Given the description of an element on the screen output the (x, y) to click on. 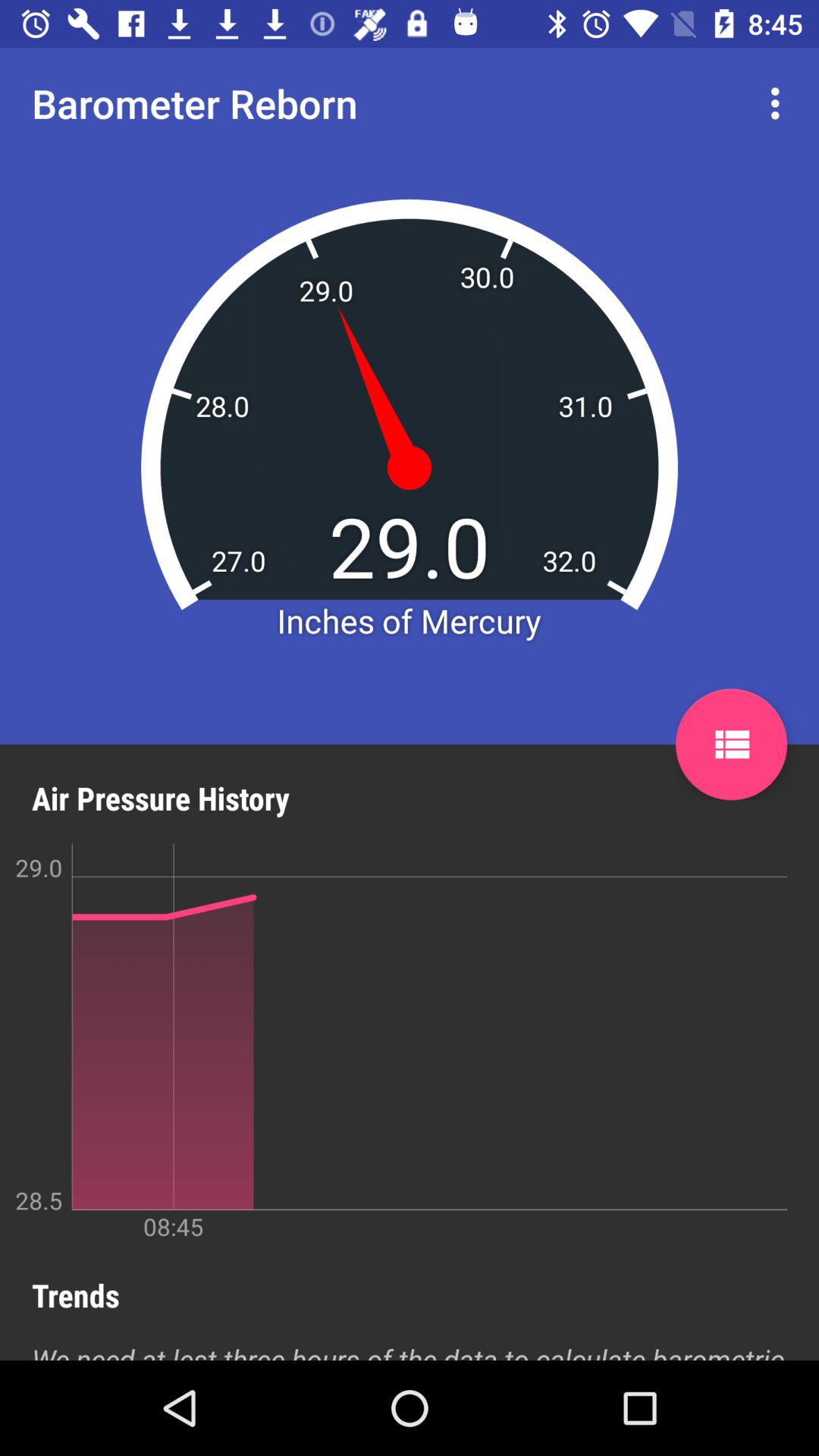
turn on the item below air pressure history (393, 1042)
